Given the description of an element on the screen output the (x, y) to click on. 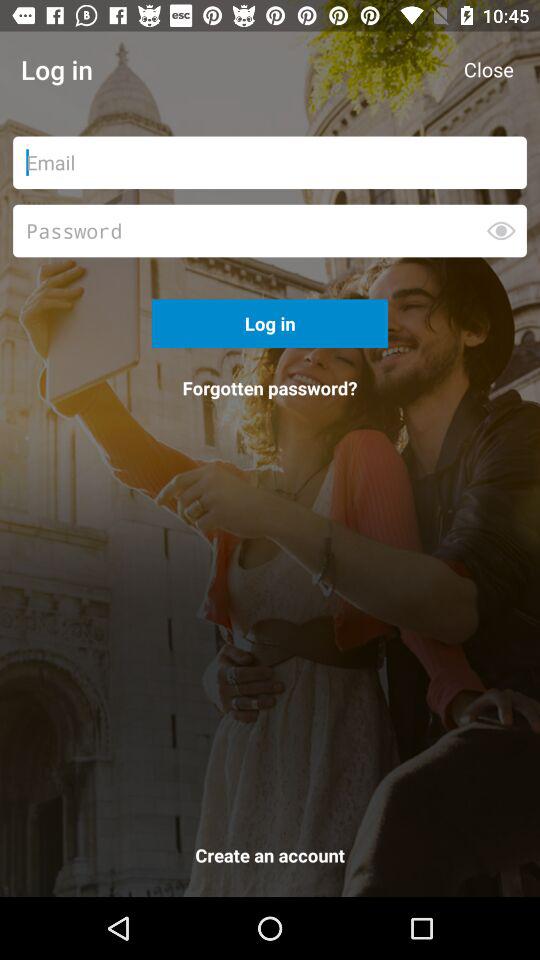
jump until the close item (488, 69)
